Given the description of an element on the screen output the (x, y) to click on. 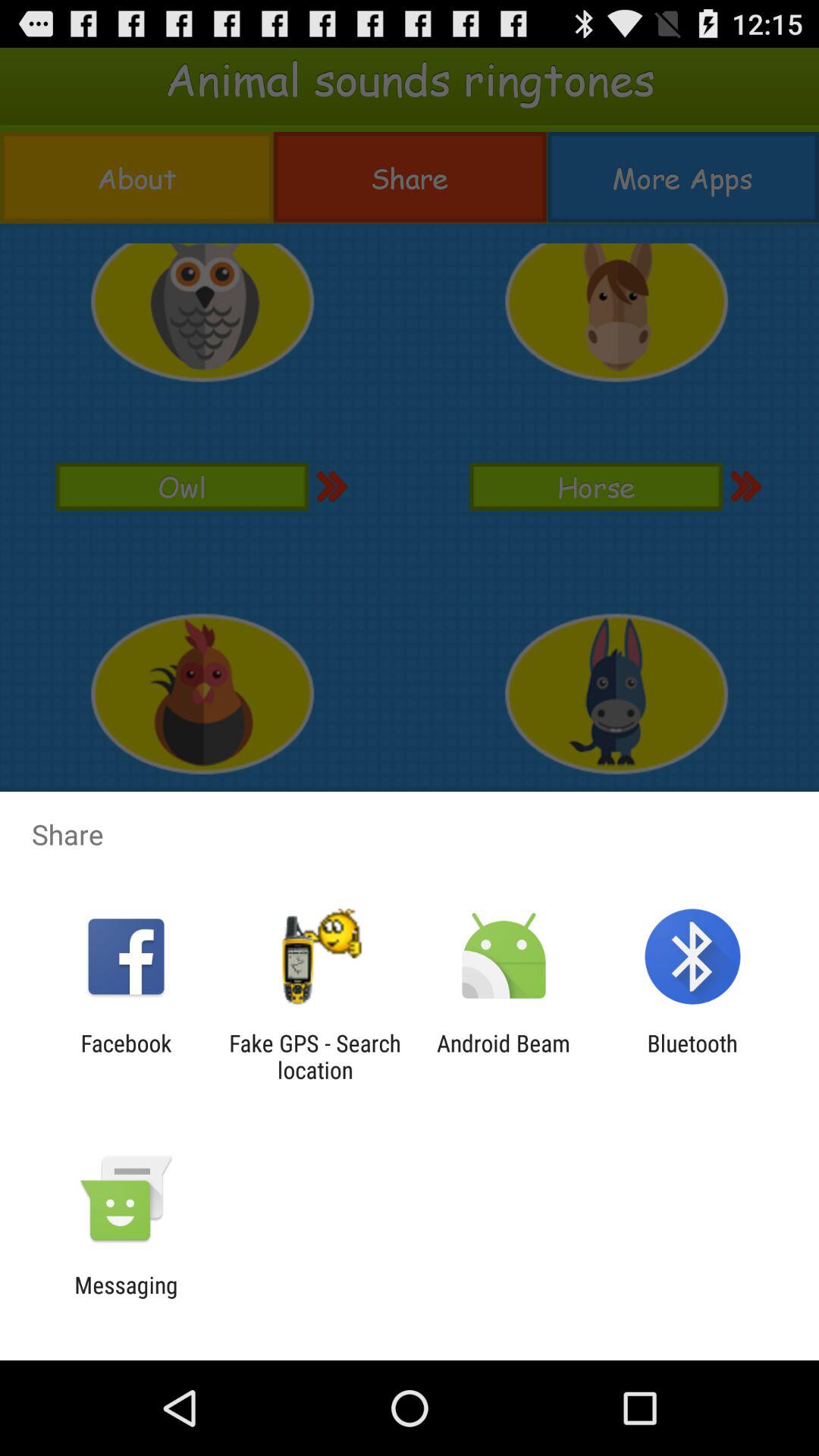
choose the messaging item (126, 1298)
